Given the description of an element on the screen output the (x, y) to click on. 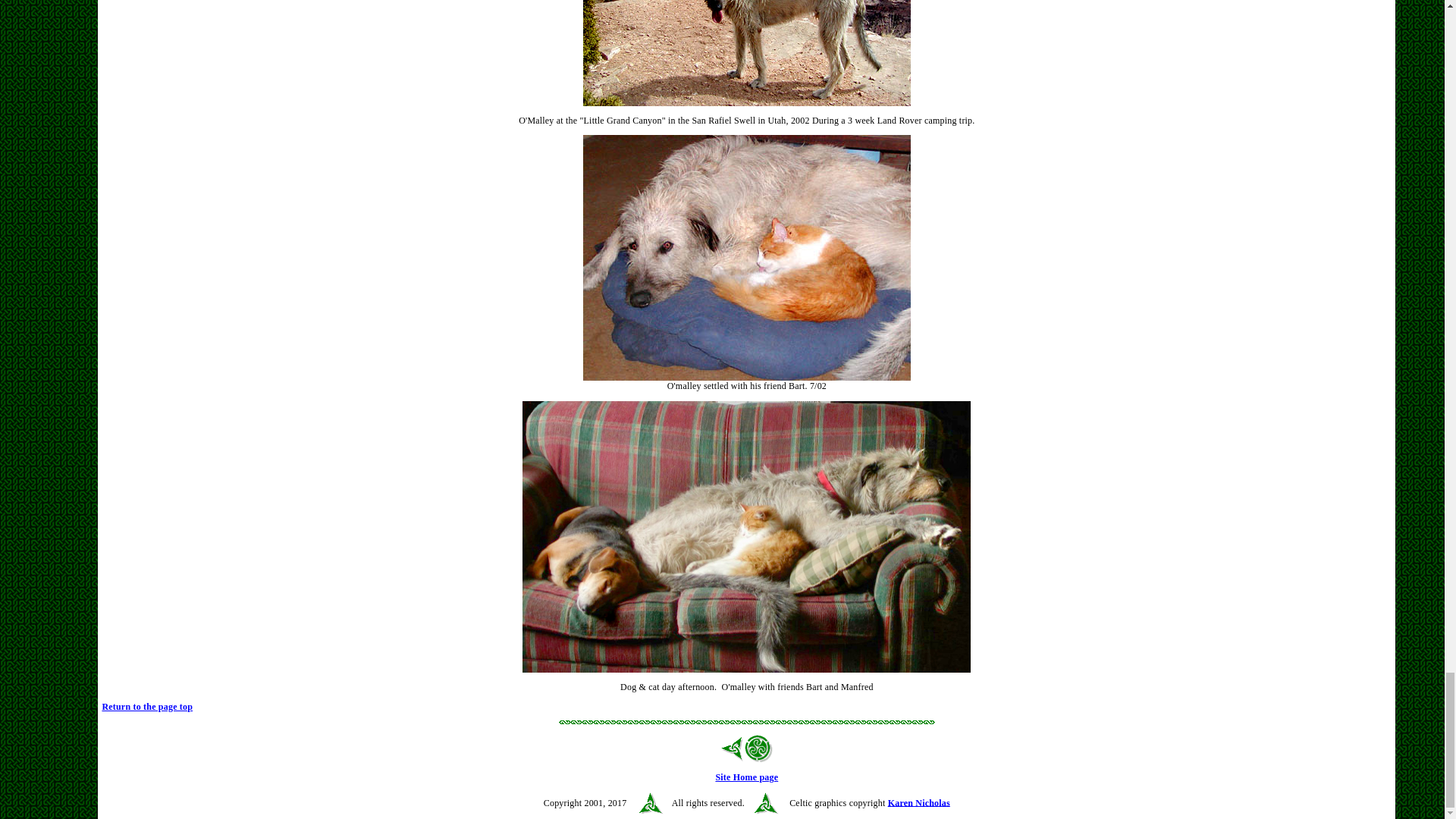
Karen Nicholas (919, 801)
Return to the page top (146, 706)
Site Home page (745, 777)
